Given the description of an element on the screen output the (x, y) to click on. 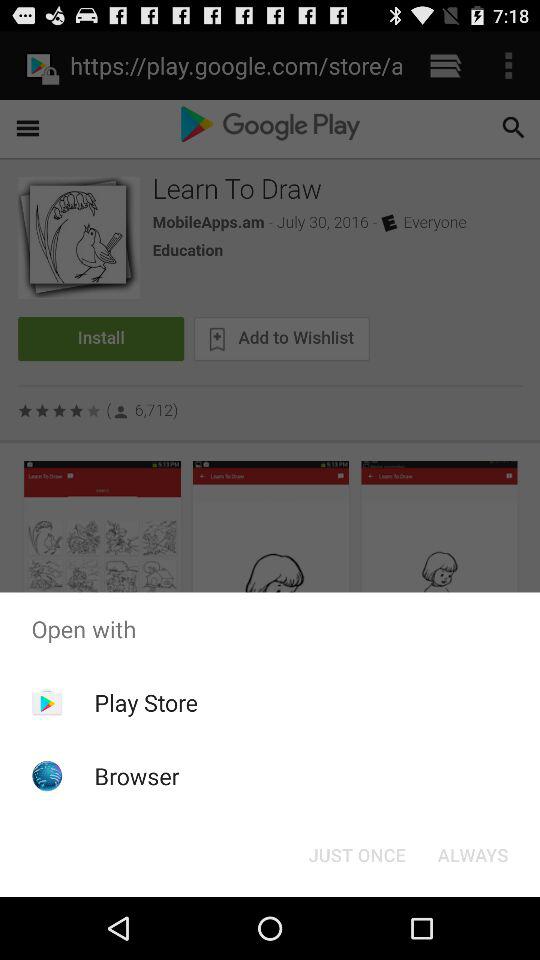
tap the icon next to the just once button (472, 854)
